Given the description of an element on the screen output the (x, y) to click on. 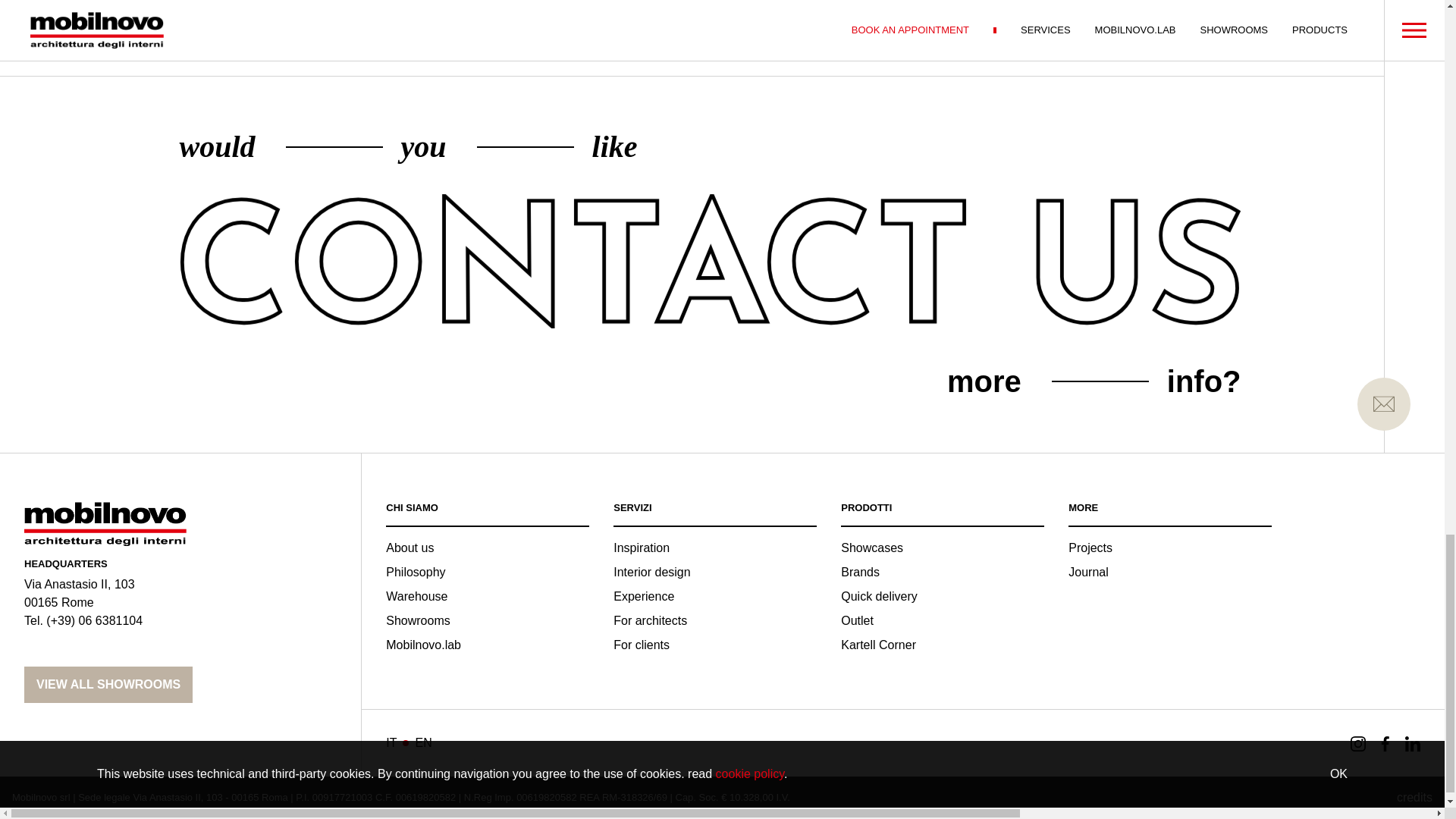
About us (409, 550)
mobilnovo showroom (108, 684)
